Given the description of an element on the screen output the (x, y) to click on. 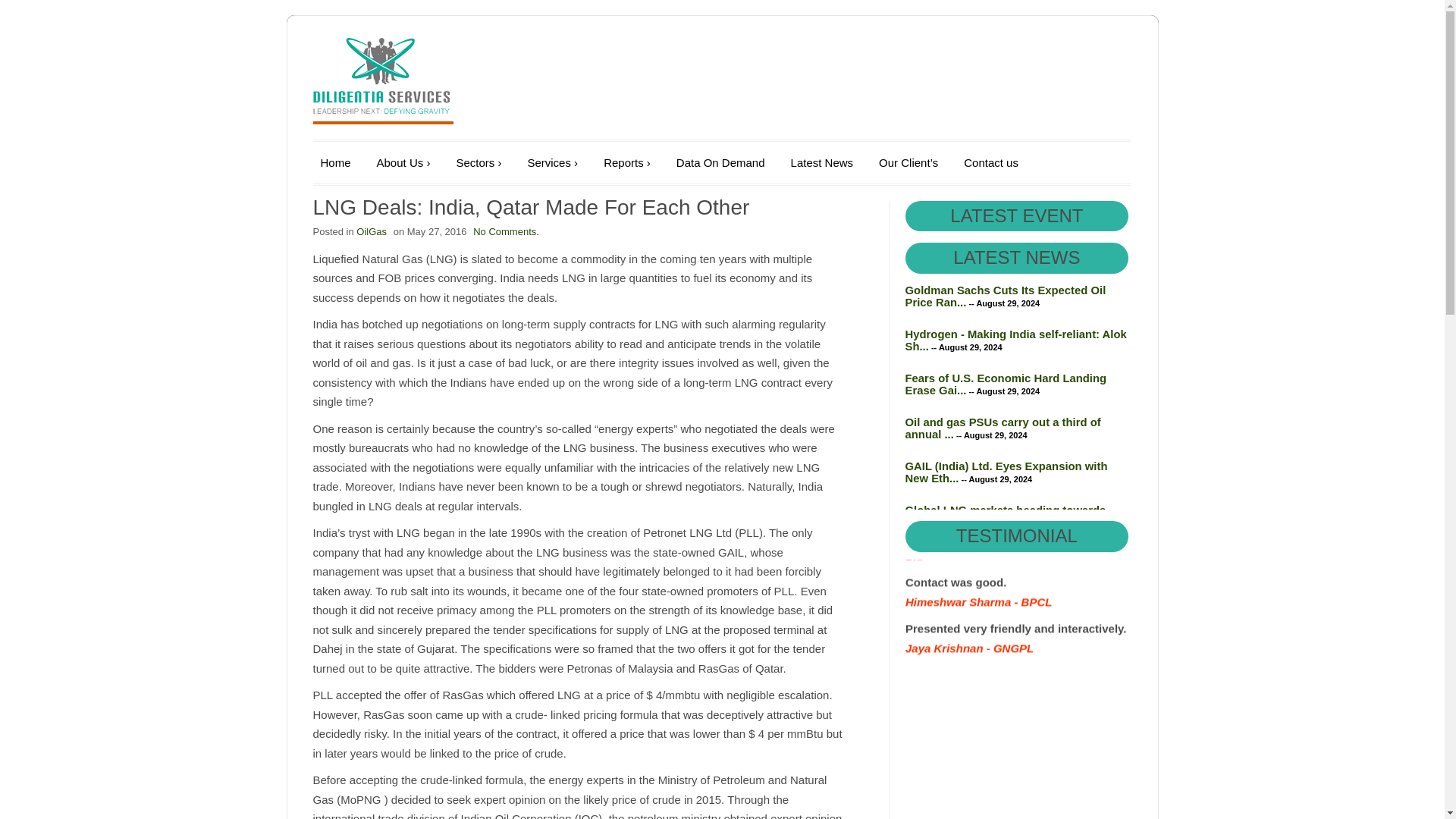
Contact us (991, 162)
Data On Demand (720, 162)
Latest News (822, 162)
Home (335, 162)
No Comments. (505, 231)
OilGas (371, 231)
